Given the description of an element on the screen output the (x, y) to click on. 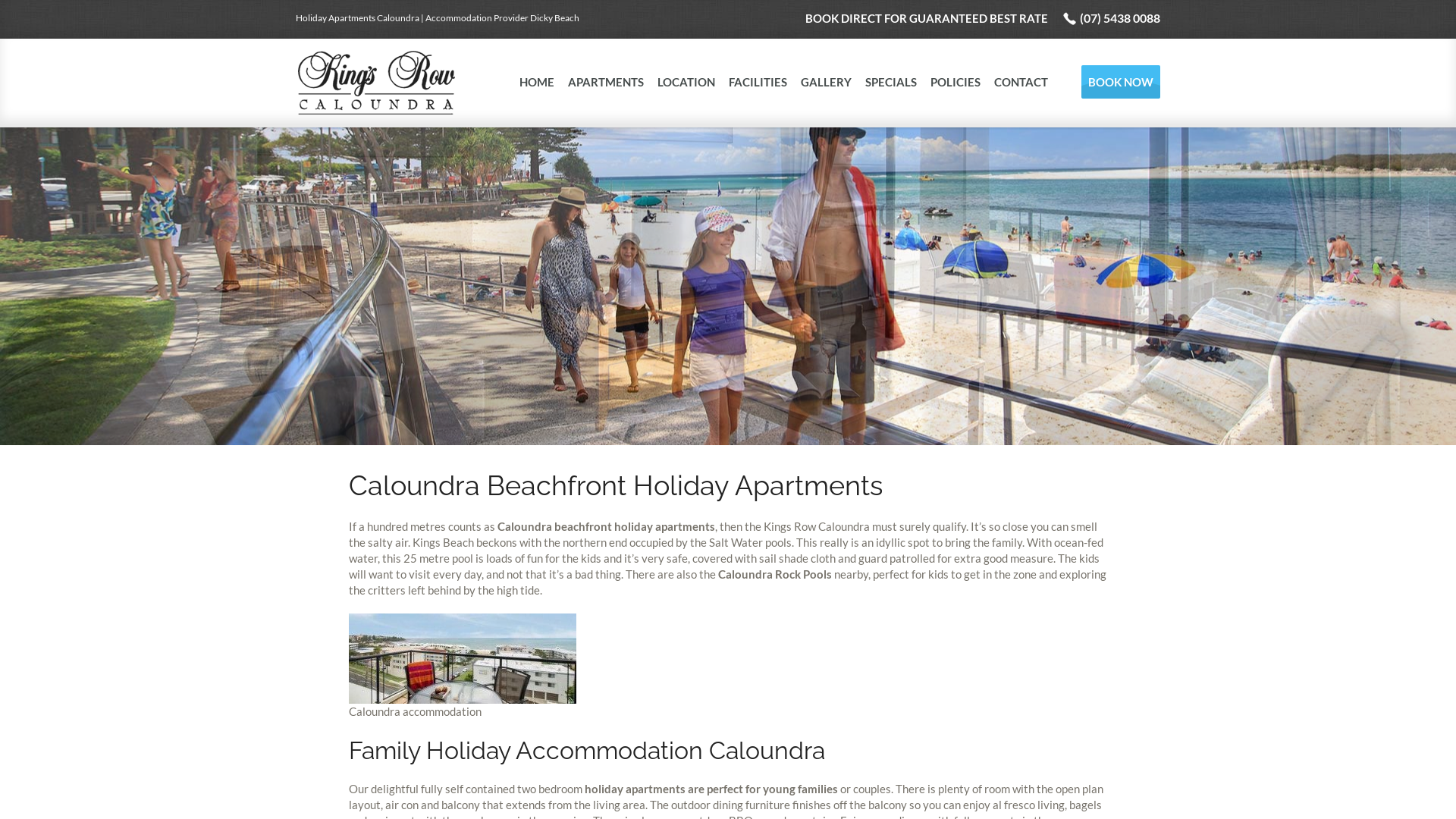
SPECIALS Element type: text (890, 81)
APARTMENTS Element type: text (605, 81)
CONTACT Element type: text (1020, 81)
HOME Element type: text (536, 81)
(07) 5438 0088 Element type: text (1111, 18)
POLICIES Element type: text (955, 81)
LOCATION Element type: text (685, 81)
GALLERY Element type: text (825, 81)
BOOK NOW Element type: text (1120, 81)
FACILITIES Element type: text (757, 81)
